Given the description of an element on the screen output the (x, y) to click on. 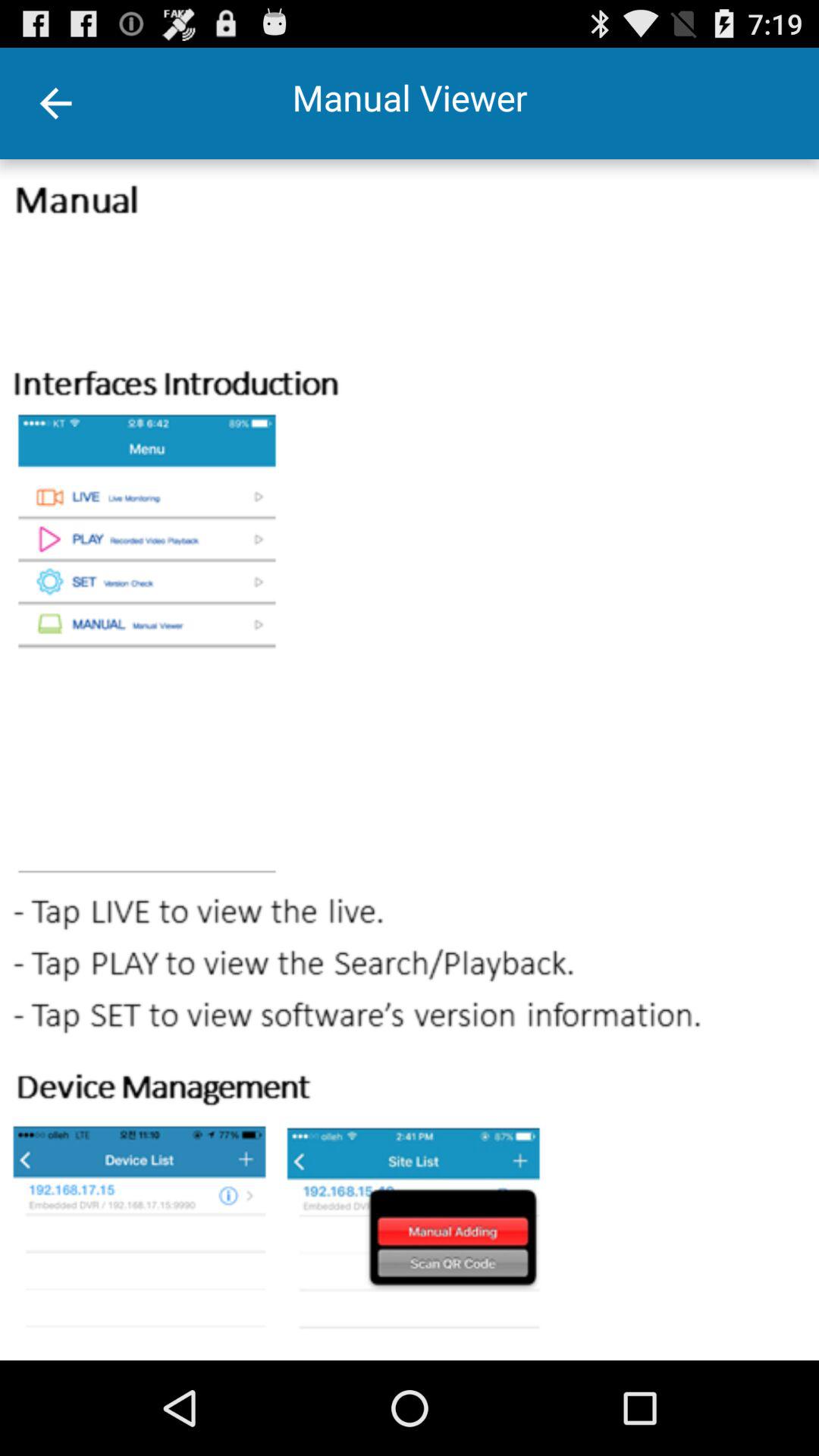
page with info on interfaces introduction (409, 759)
